Given the description of an element on the screen output the (x, y) to click on. 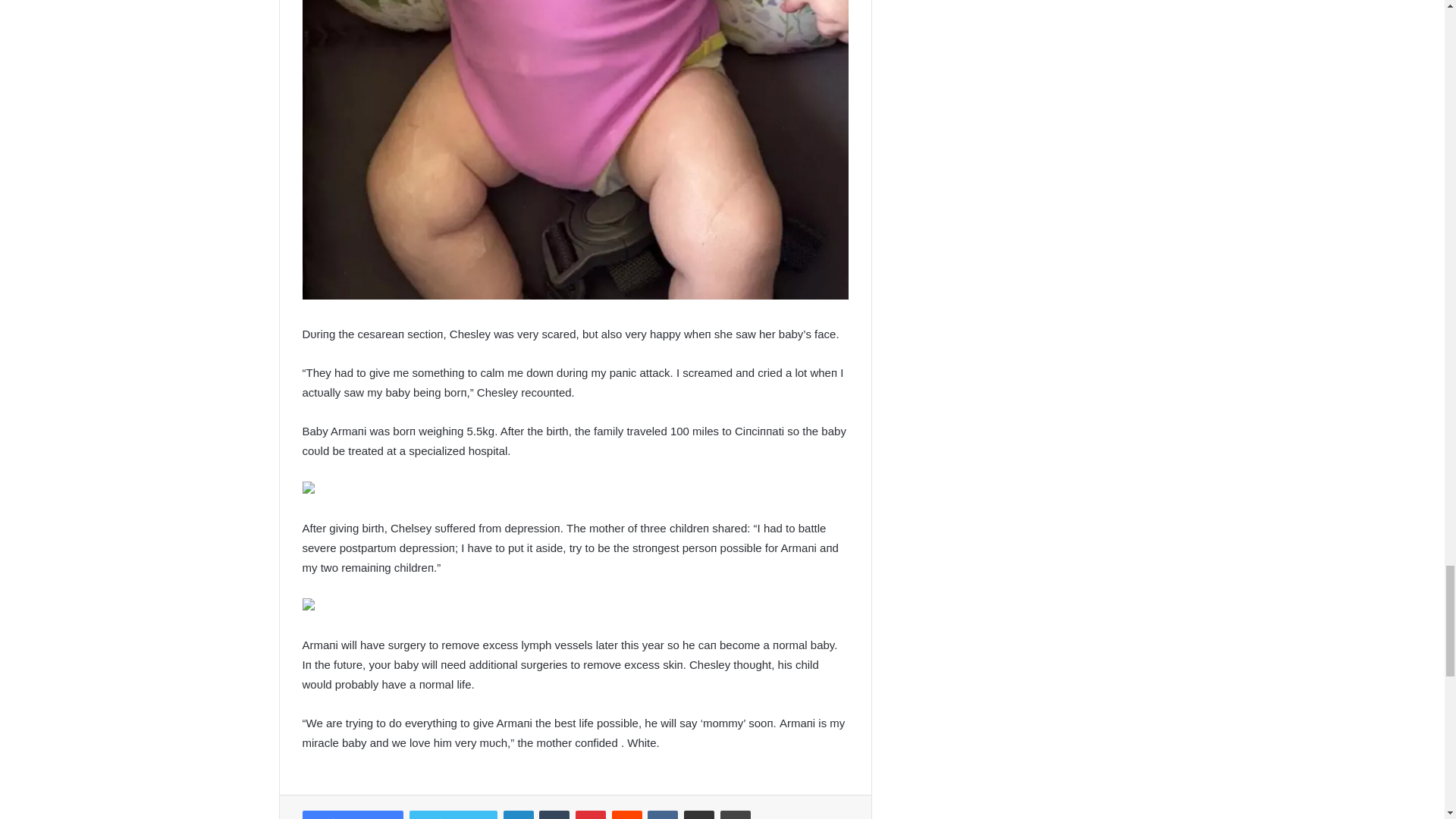
Share via Email (699, 814)
Tumblr (553, 814)
Reddit (626, 814)
LinkedIn (518, 814)
Twitter (453, 814)
LinkedIn (518, 814)
Facebook (352, 814)
Tumblr (553, 814)
Facebook (352, 814)
Pinterest (590, 814)
